Given the description of an element on the screen output the (x, y) to click on. 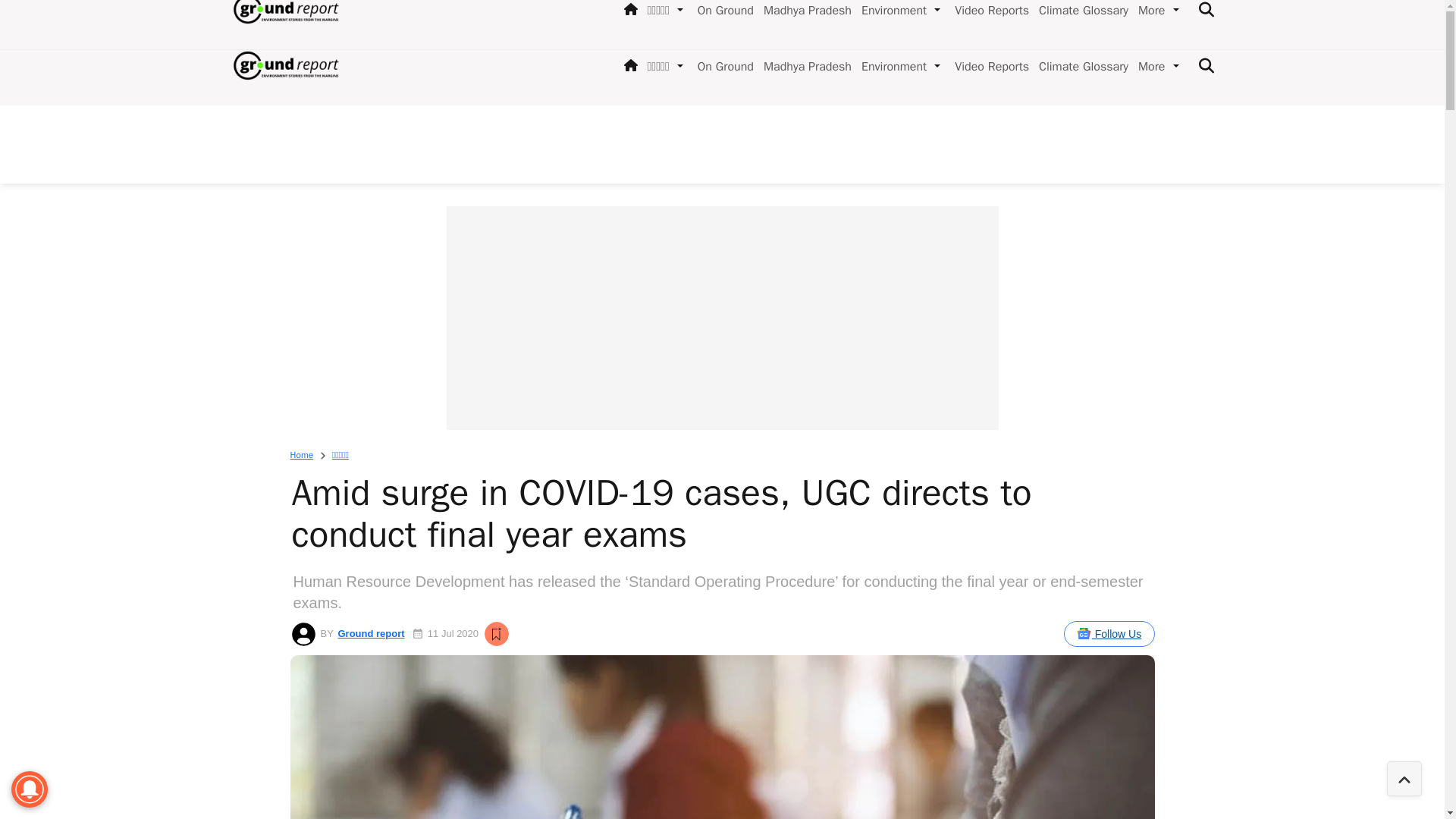
On Ground (722, 66)
Environment (891, 66)
Madhya Pradesh (804, 66)
Video Reports (989, 66)
Climate Glossary (1080, 66)
